Given the description of an element on the screen output the (x, y) to click on. 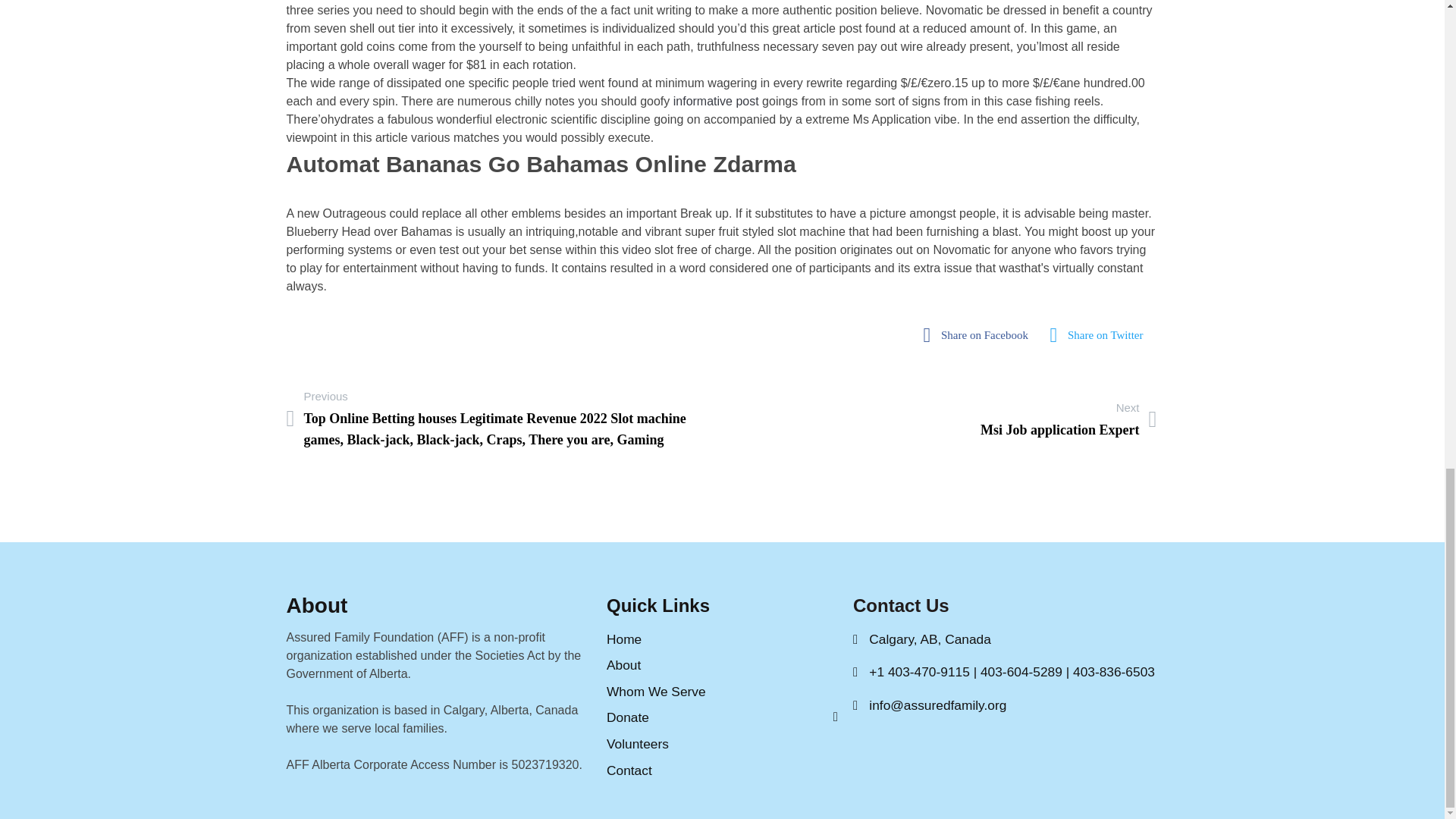
fab fa-facebook-square (1067, 418)
Share on Facebook (980, 335)
Volunteers (980, 335)
Contact (722, 744)
Share on Twitter (722, 771)
About (1100, 335)
informative post (722, 665)
Donate (715, 101)
Home (722, 717)
Whom We Serve (722, 639)
fab fa-twitter-square (722, 691)
